Given the description of an element on the screen output the (x, y) to click on. 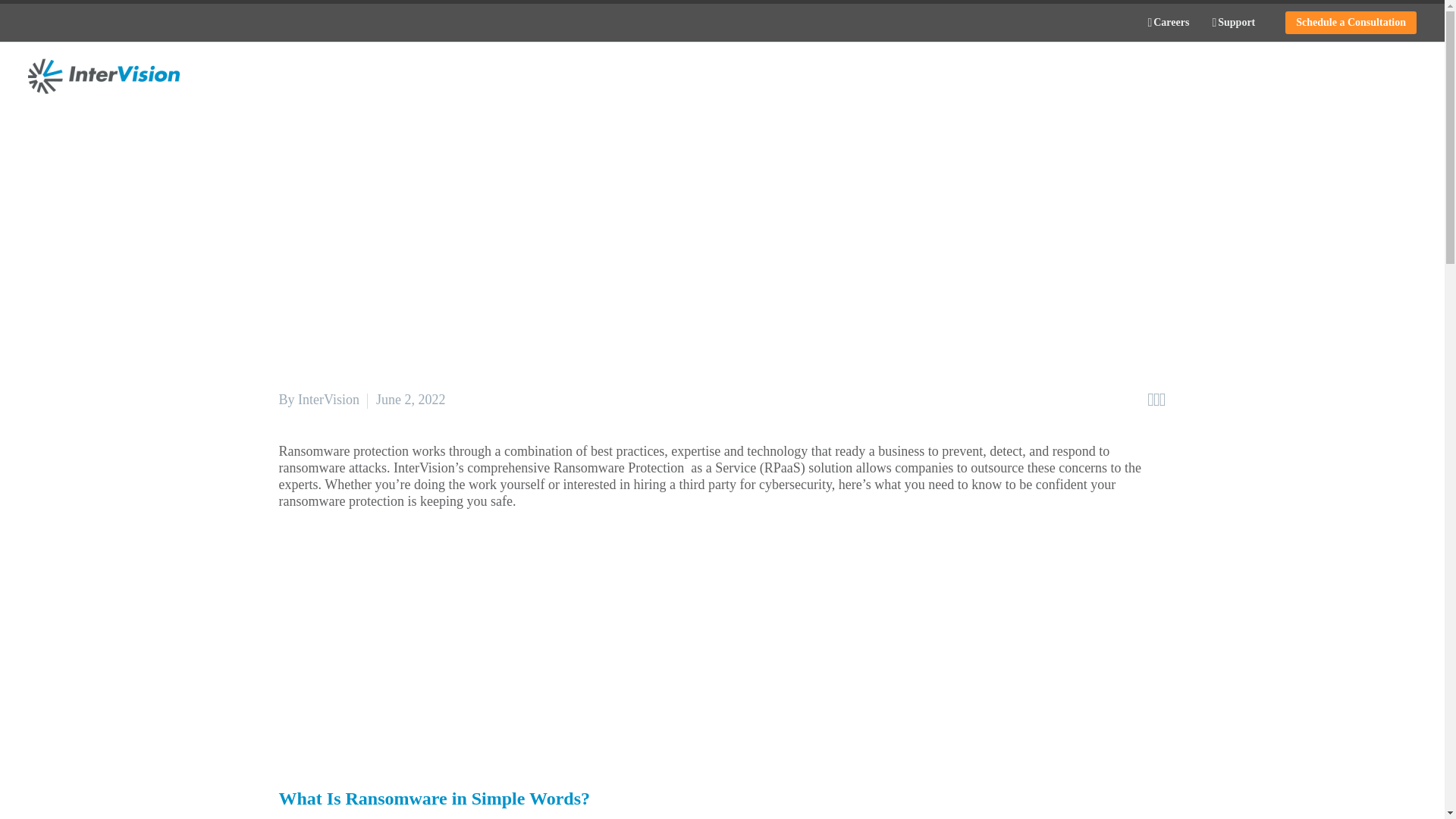
YouTube video player (491, 643)
Support (1233, 22)
Careers (1168, 22)
Schedule a Consultation (1350, 22)
